Given the description of an element on the screen output the (x, y) to click on. 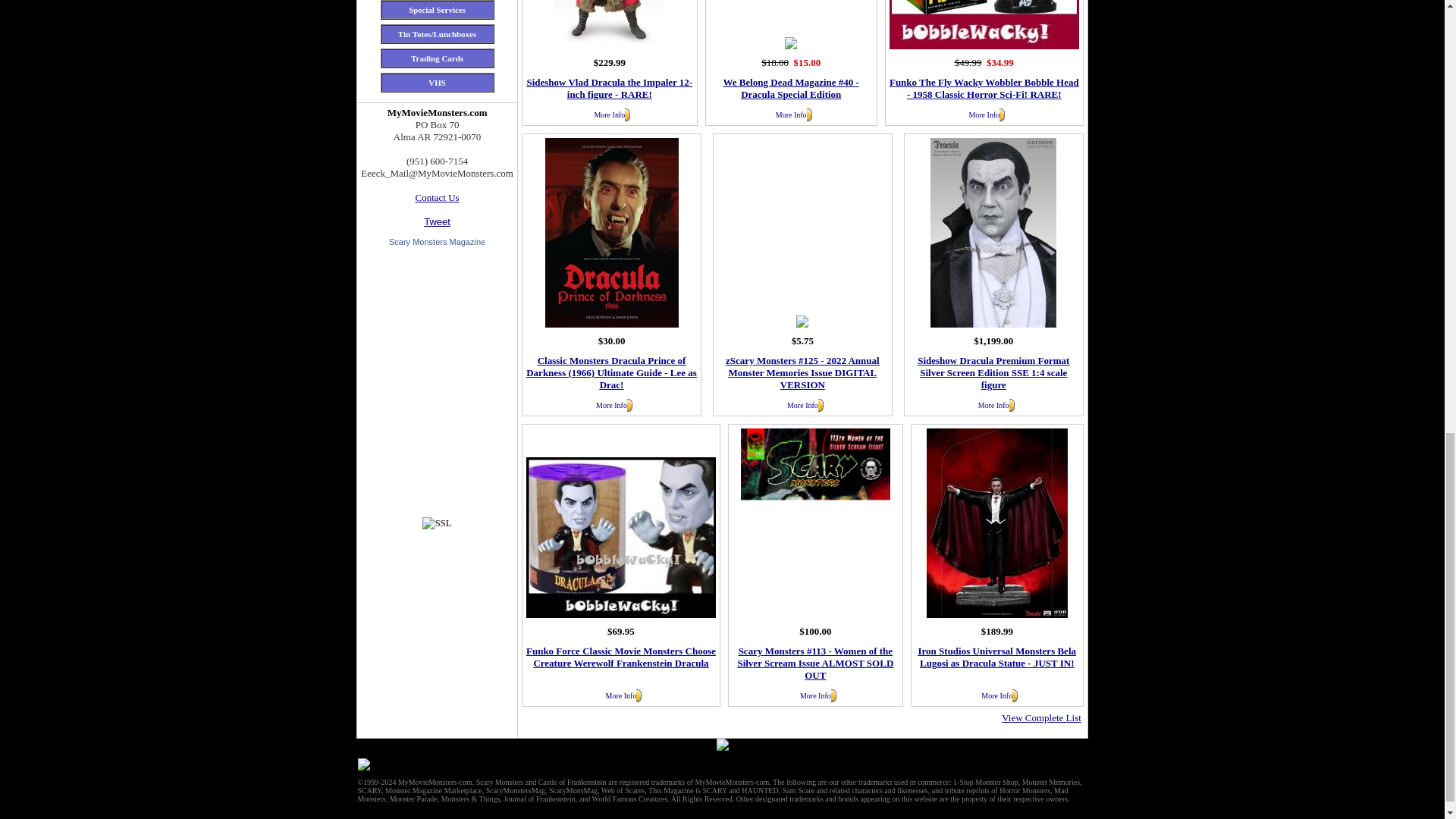
Scary Monsters Magazine (436, 241)
VHS (436, 81)
Contact Us (437, 197)
Trading Cards (436, 58)
Special Services (437, 9)
